Given the description of an element on the screen output the (x, y) to click on. 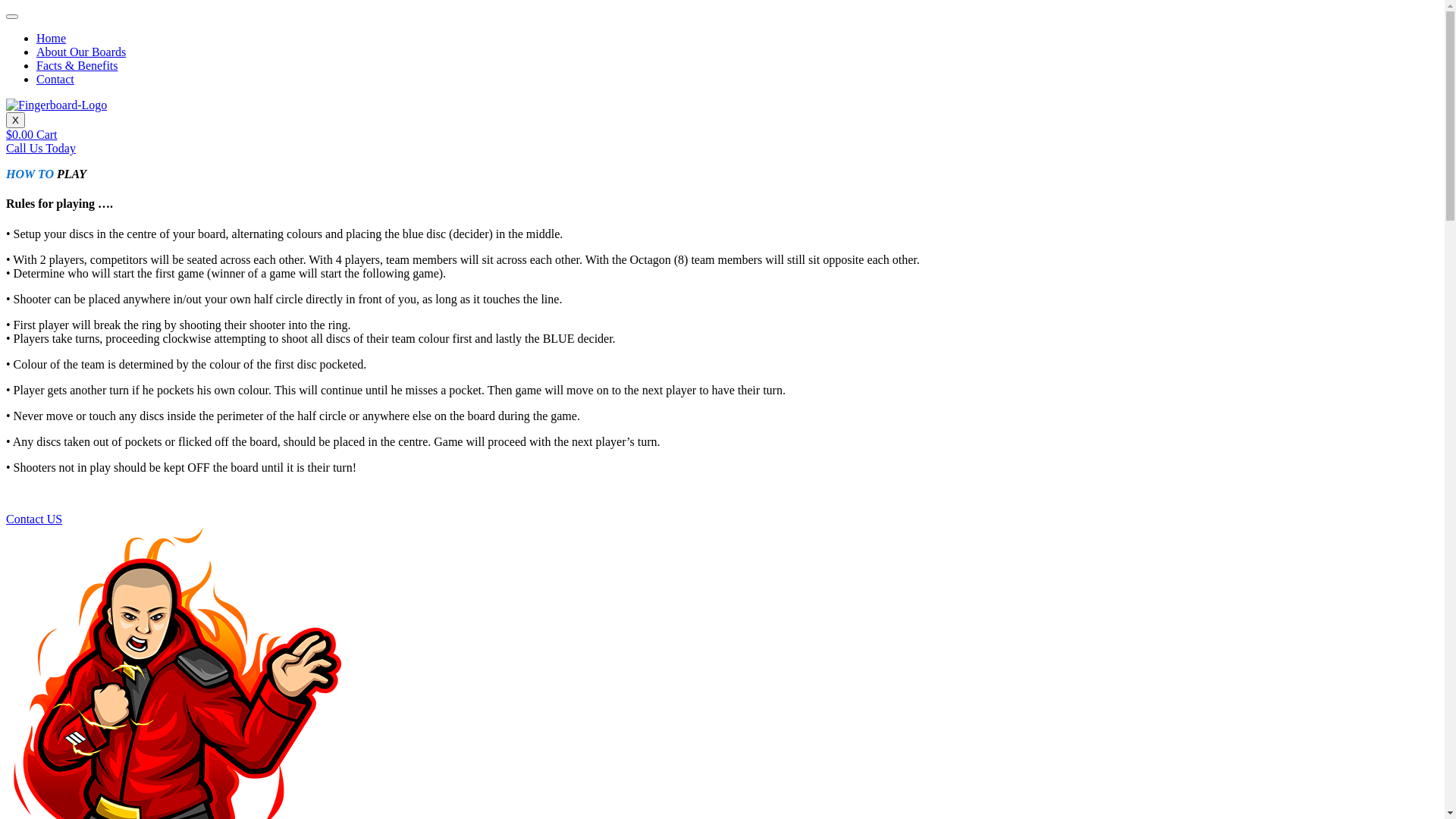
Home Element type: text (50, 37)
X Element type: text (15, 120)
About Our Boards Element type: text (80, 51)
Contact US Element type: text (34, 518)
Contact Element type: text (55, 78)
$0.00 Cart Element type: text (31, 134)
Facts & Benefits Element type: text (77, 65)
Call Us Today Element type: text (40, 147)
